Given the description of an element on the screen output the (x, y) to click on. 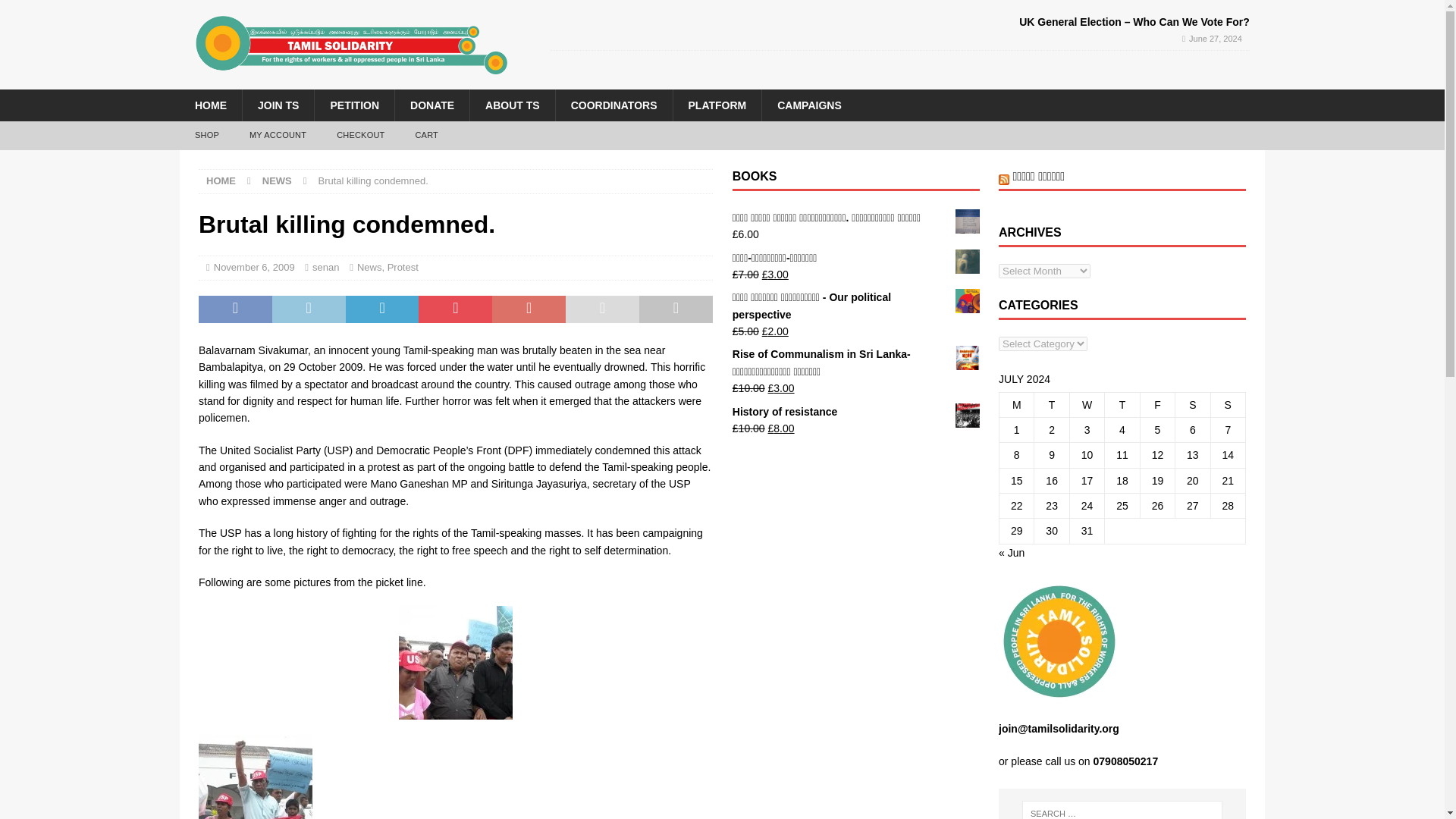
PLATFORM (716, 105)
DONATE (431, 105)
June 27, 2024 (1215, 38)
Protest (403, 266)
senan (326, 266)
8p (255, 776)
MY ACCOUNT (277, 135)
NEWS (277, 180)
CART (425, 135)
ABOUT TS (511, 105)
COORDINATORS (613, 105)
JOIN TS (277, 105)
HOME (220, 180)
SHOP (206, 135)
HOME (210, 105)
